Given the description of an element on the screen output the (x, y) to click on. 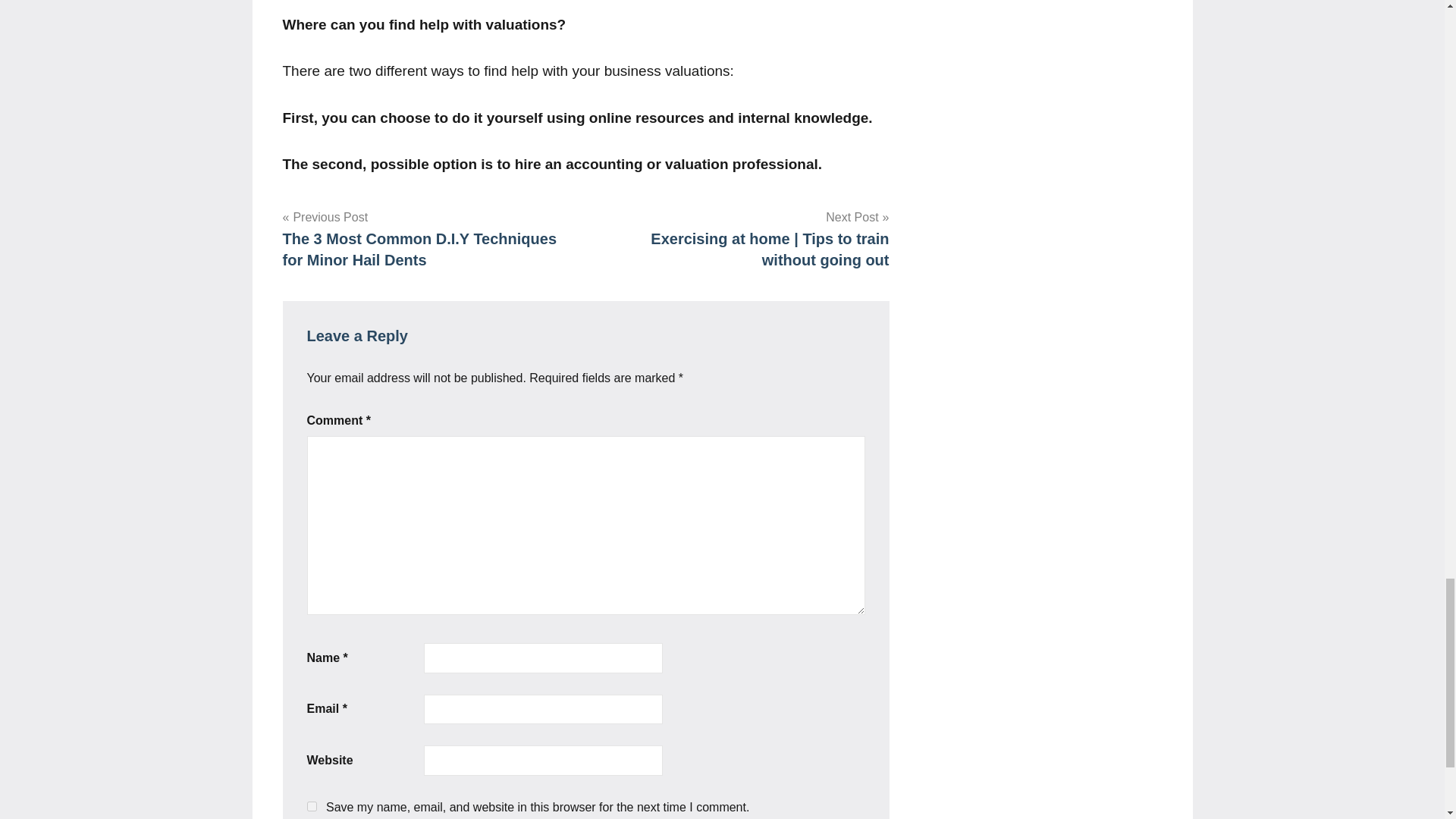
yes (310, 806)
